Given the description of an element on the screen output the (x, y) to click on. 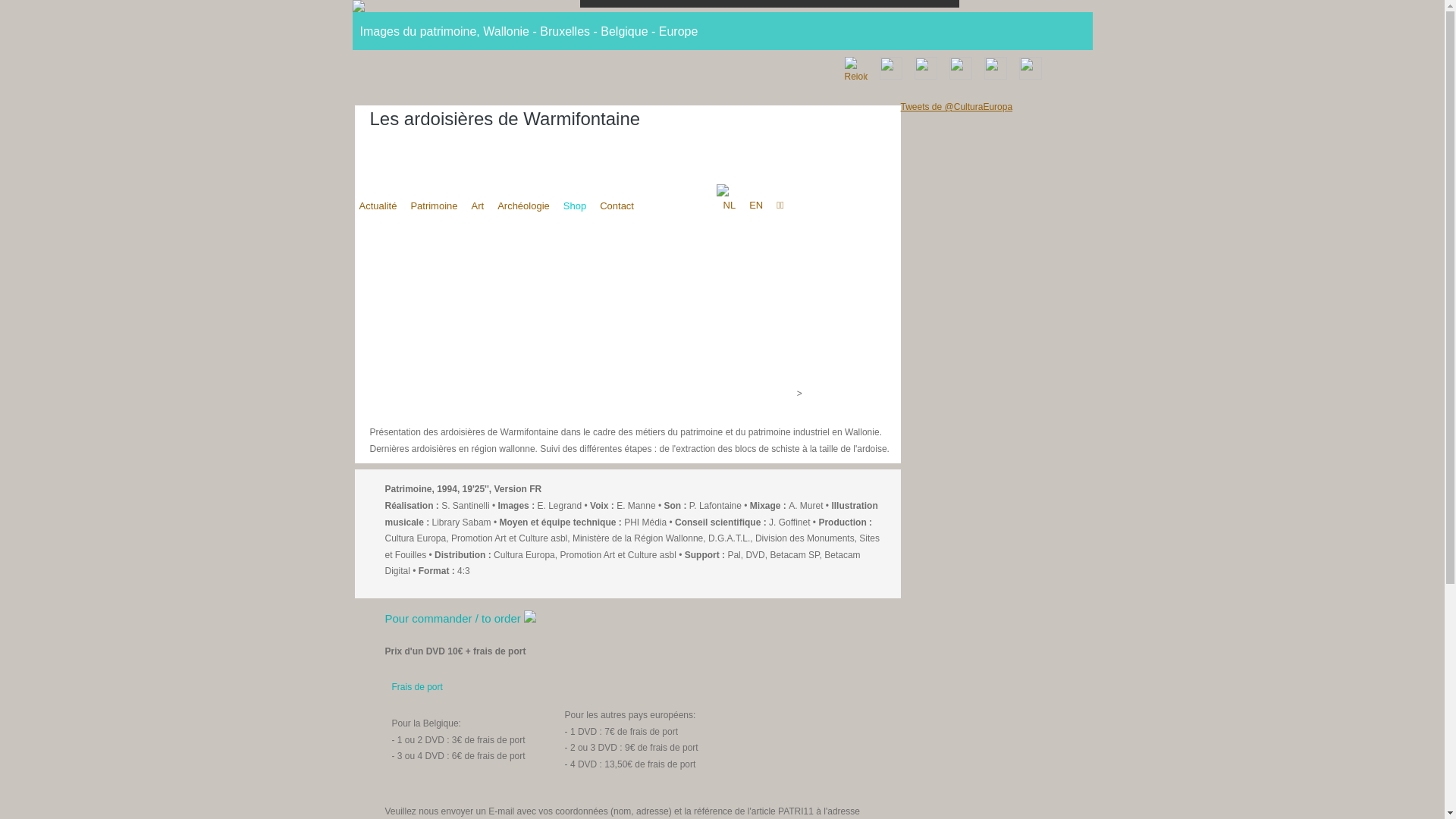
EN Element type: text (755, 204)
Tweets de @CulturaEuropa Element type: text (956, 106)
Contact Element type: text (616, 205)
Art Element type: text (477, 205)
Patrimoine Element type: text (433, 205)
Shop Element type: text (574, 205)
NL Element type: text (728, 204)
